Given the description of an element on the screen output the (x, y) to click on. 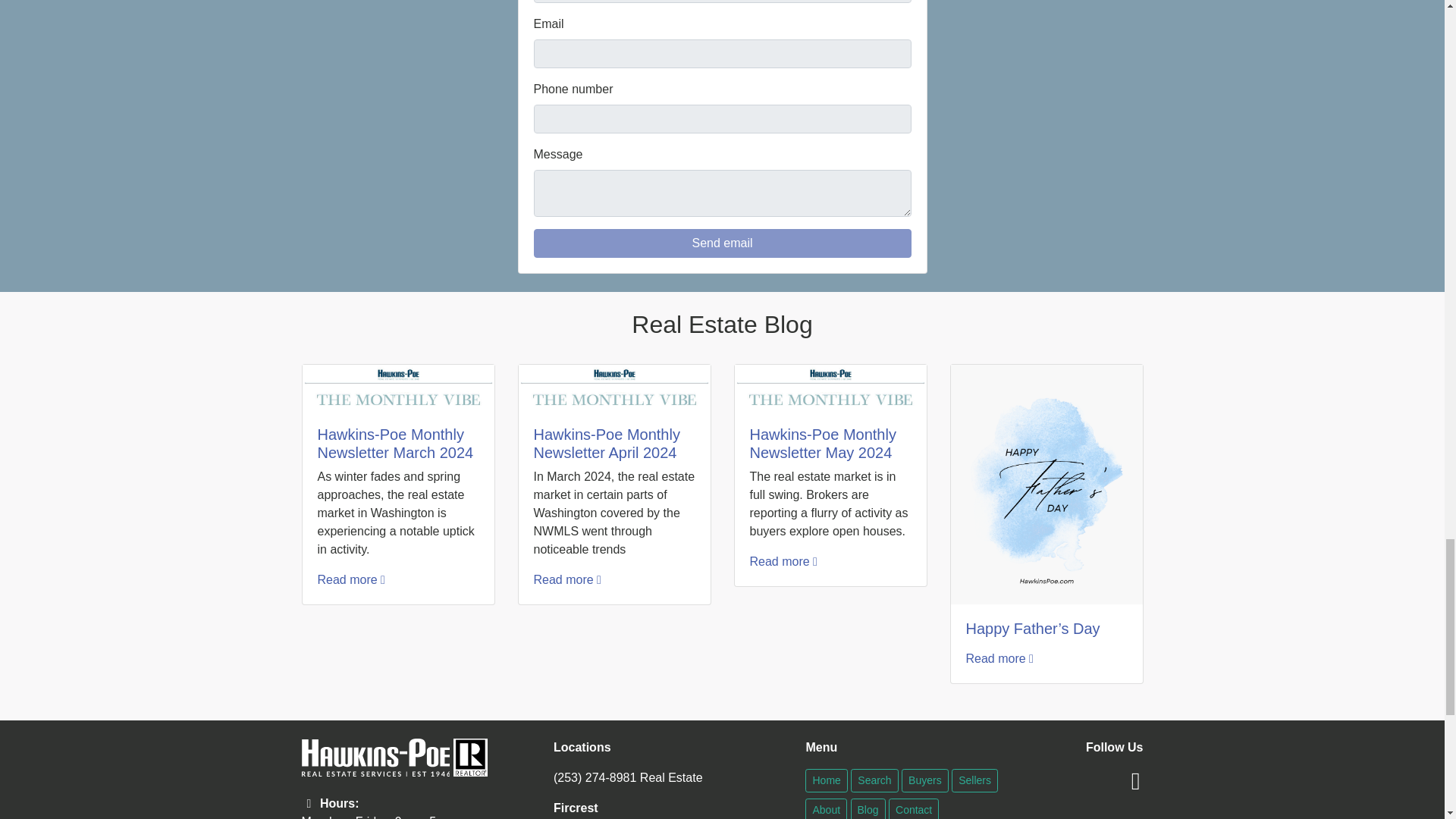
Buyers (925, 780)
Sellers (974, 780)
Send email (722, 243)
Search (874, 780)
Hawkins-Poe Monthly Newsletter April 2024 (606, 443)
Read more (567, 579)
Hawkins-Poe Monthly Newsletter March 2024 (395, 443)
Read more (782, 561)
Hawkins-Poe Monthly Newsletter May 2024 (822, 443)
Home (826, 780)
